Given the description of an element on the screen output the (x, y) to click on. 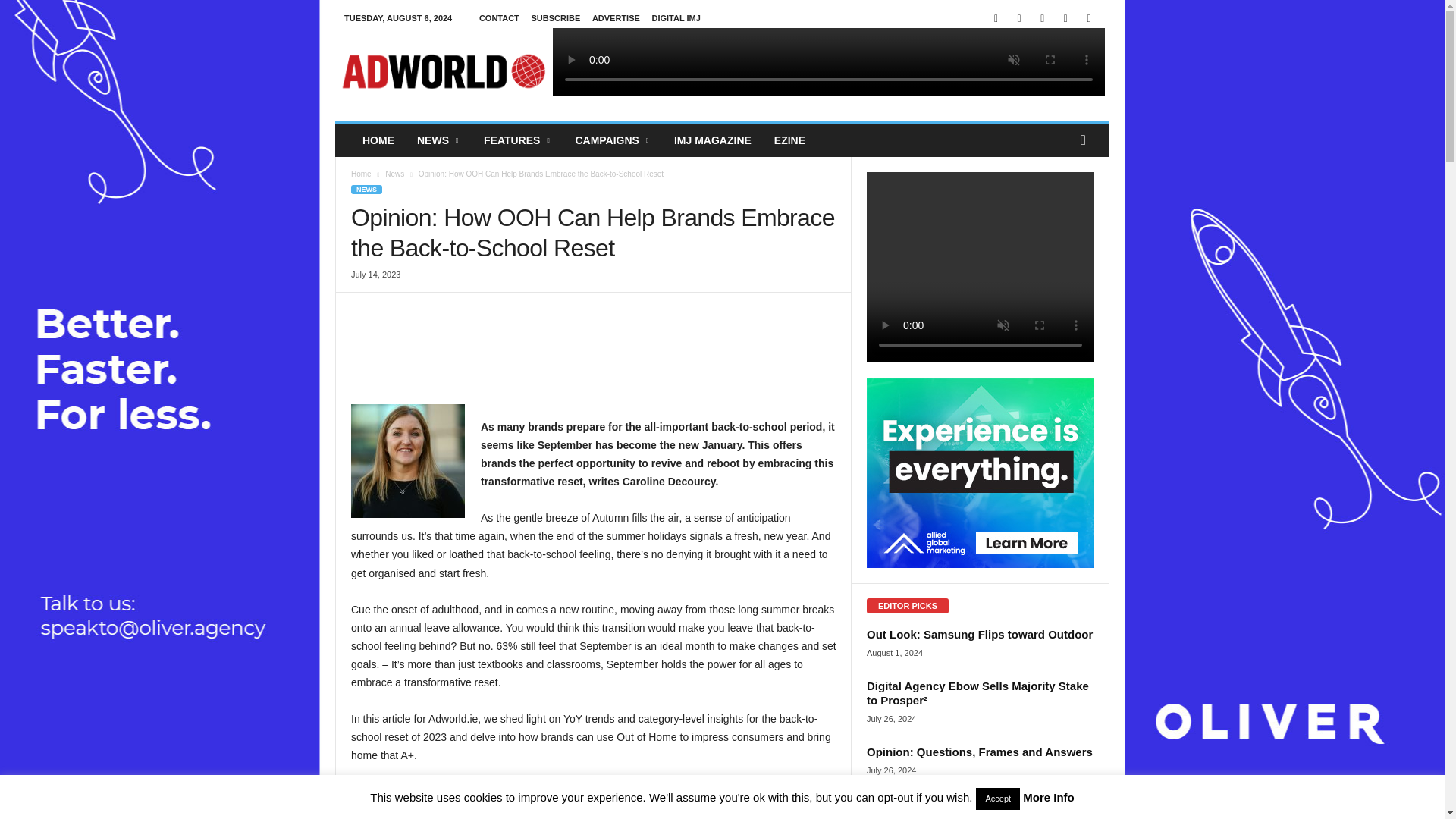
AdWorld.ie (442, 70)
SUBSCRIBE (555, 17)
CONTACT (499, 17)
DIGITAL IMJ (675, 17)
ADVERTISE (616, 17)
Adworld Logo (442, 71)
NEWS (438, 140)
HOME (378, 140)
